Given the description of an element on the screen output the (x, y) to click on. 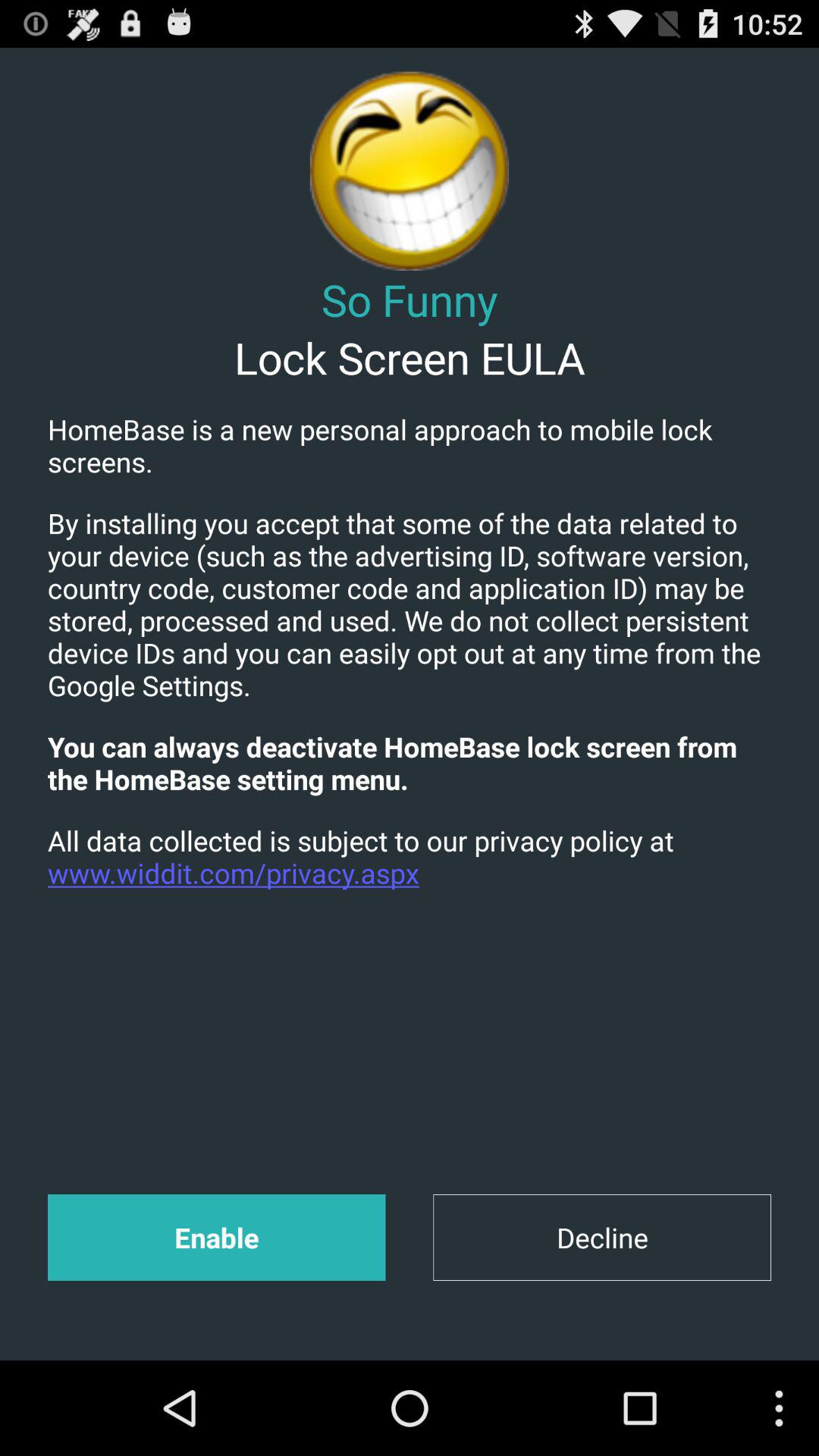
turn off the by installing you (409, 604)
